Given the description of an element on the screen output the (x, y) to click on. 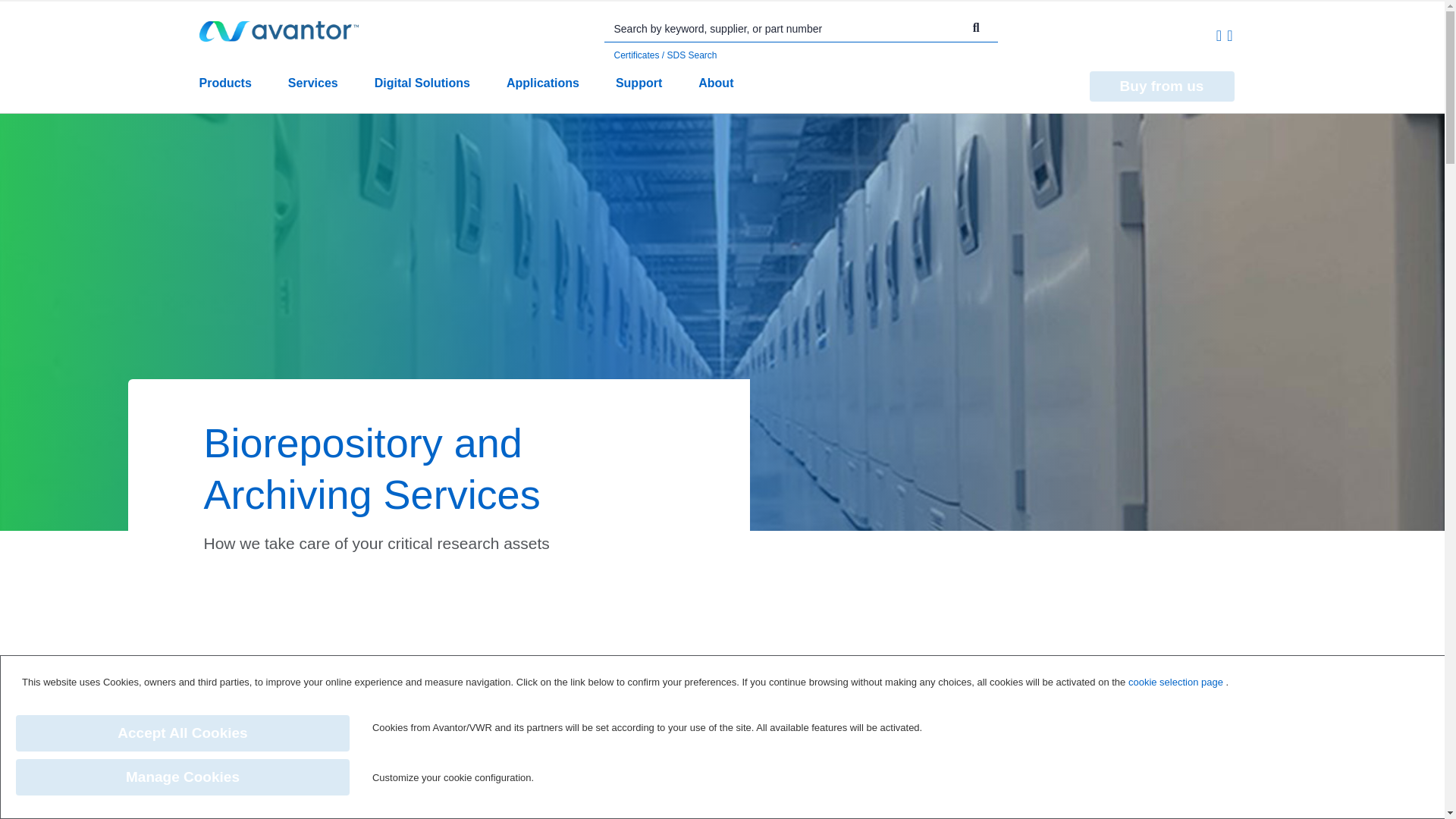
About (715, 91)
Applications (542, 91)
Home (215, 662)
Products (224, 91)
How we take care of your critical research assets (840, 662)
Services (263, 662)
Support (638, 91)
Clinical trial services (339, 662)
Buy from us (1161, 86)
Digital Solutions (422, 91)
